Given the description of an element on the screen output the (x, y) to click on. 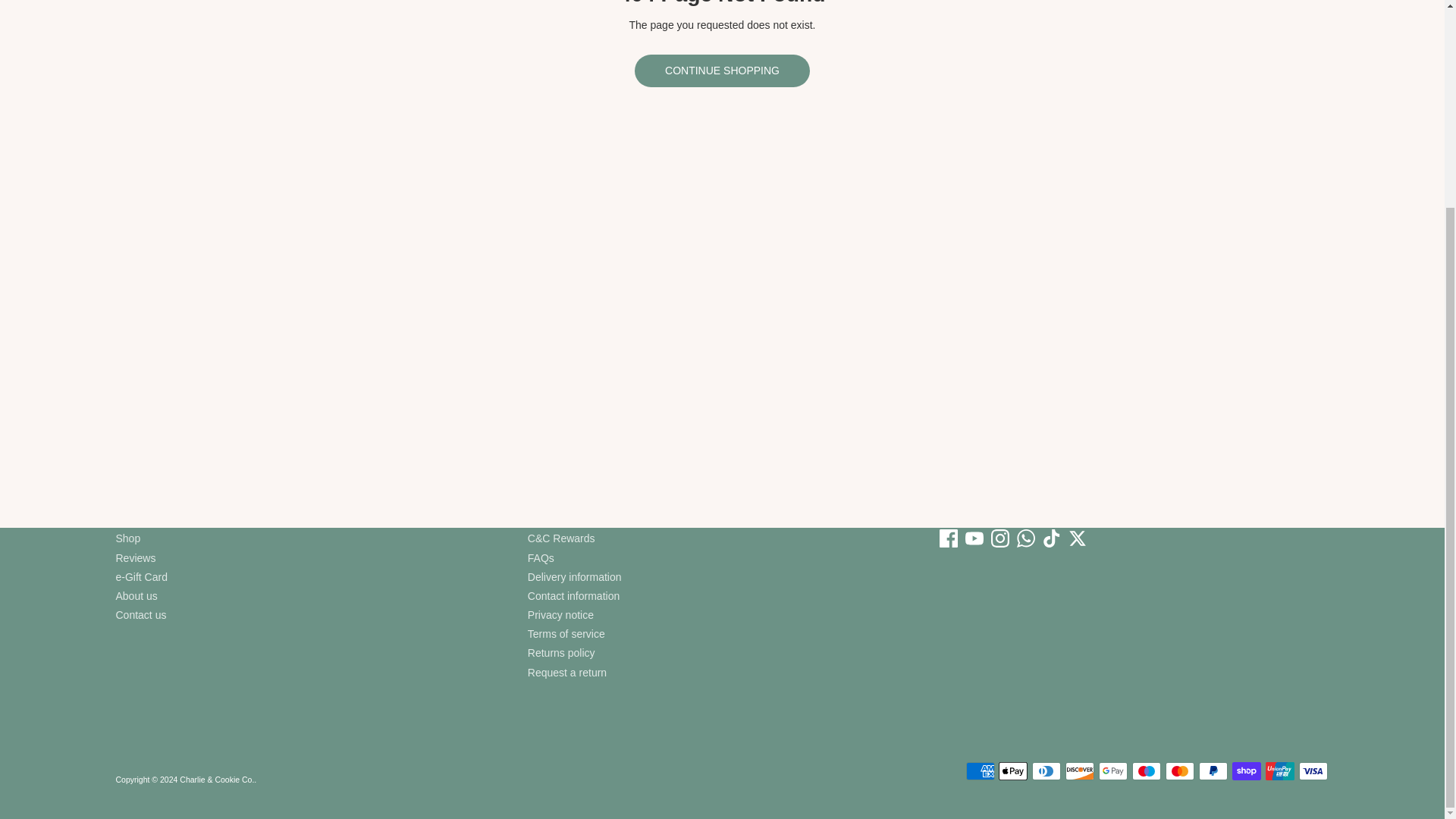
Apple Pay (1012, 771)
Diners Club (1046, 771)
Discover (1079, 771)
American Express (980, 771)
Google Pay (1112, 771)
